Given the description of an element on the screen output the (x, y) to click on. 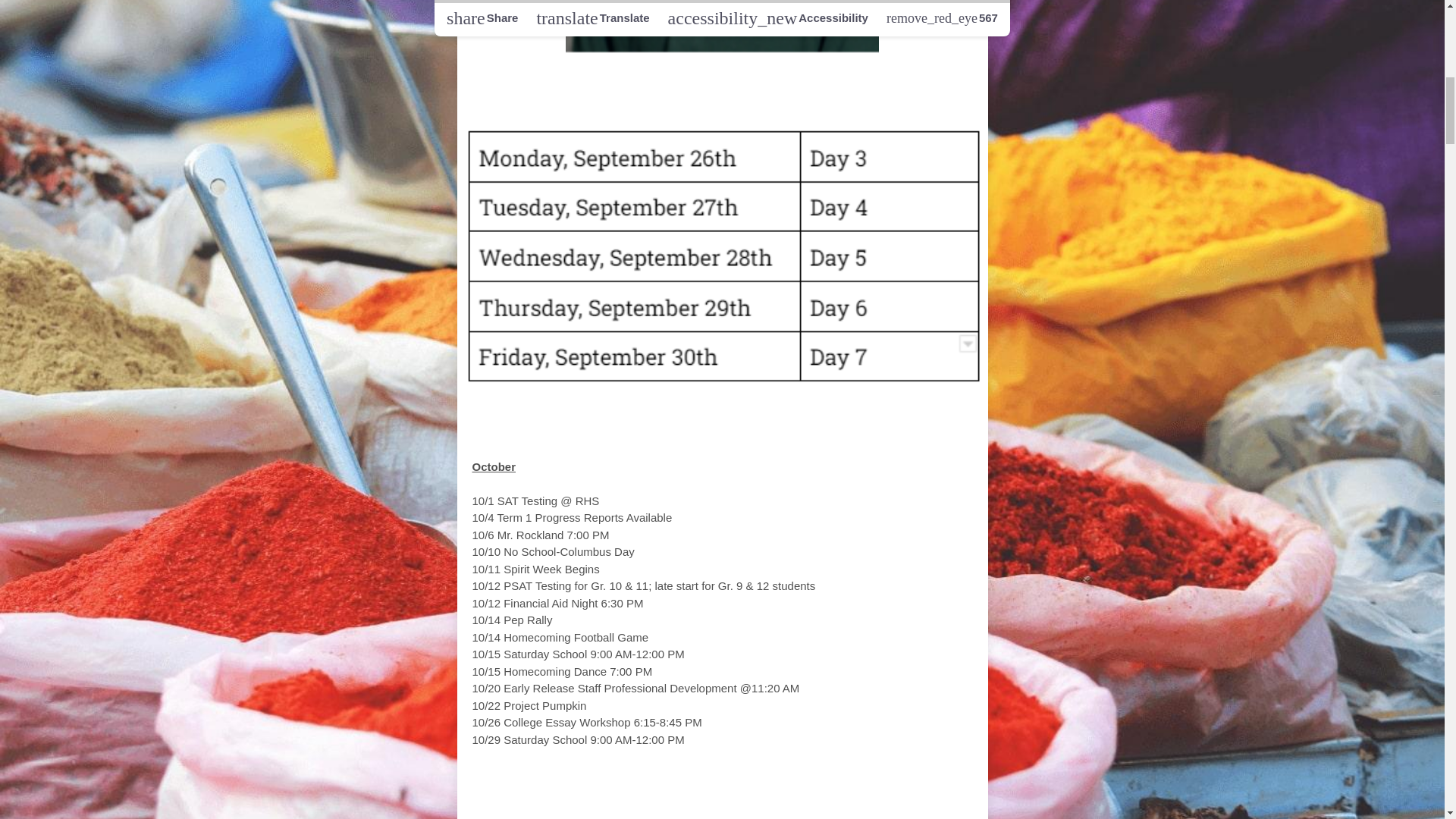
Remember (766, 436)
Inside (649, 782)
Week (709, 82)
The (660, 82)
Ahead (771, 82)
Dates (655, 436)
the (701, 782)
Classroom (773, 782)
to (699, 436)
